Given the description of an element on the screen output the (x, y) to click on. 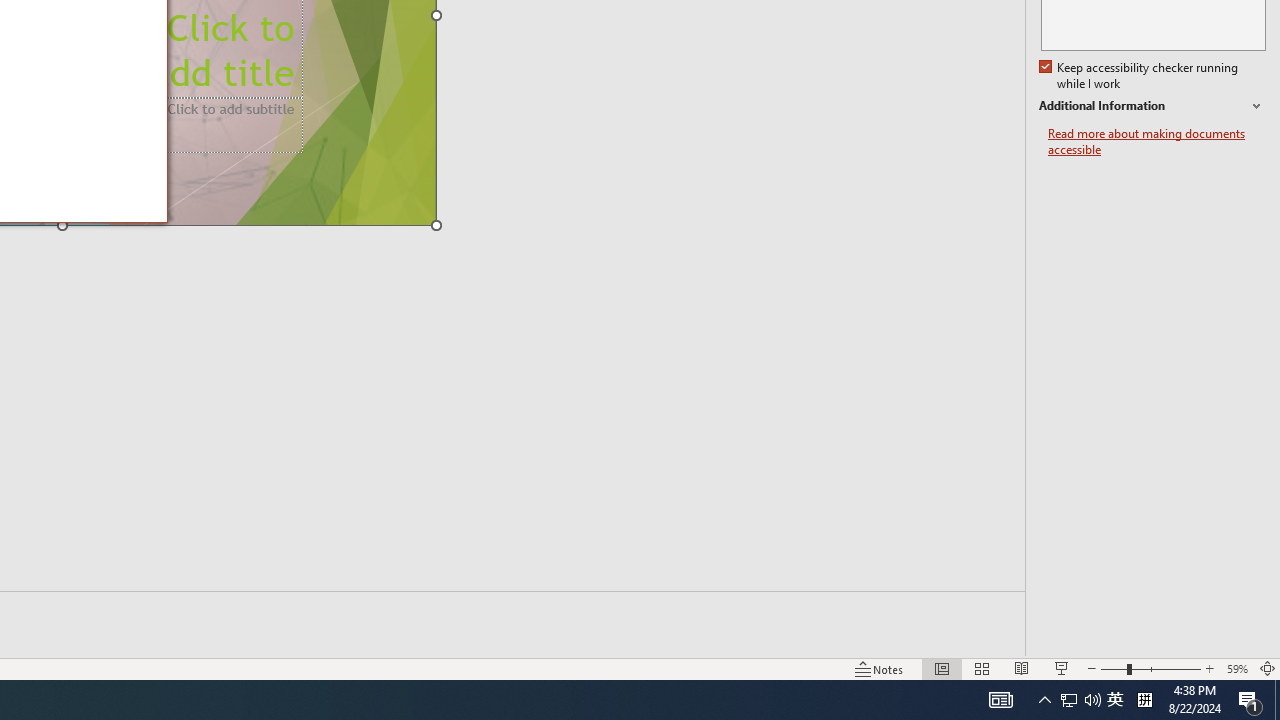
Action Center, 1 new notification (1250, 699)
Read more about making documents accessible (1156, 142)
Zoom 59% (1236, 668)
